Given the description of an element on the screen output the (x, y) to click on. 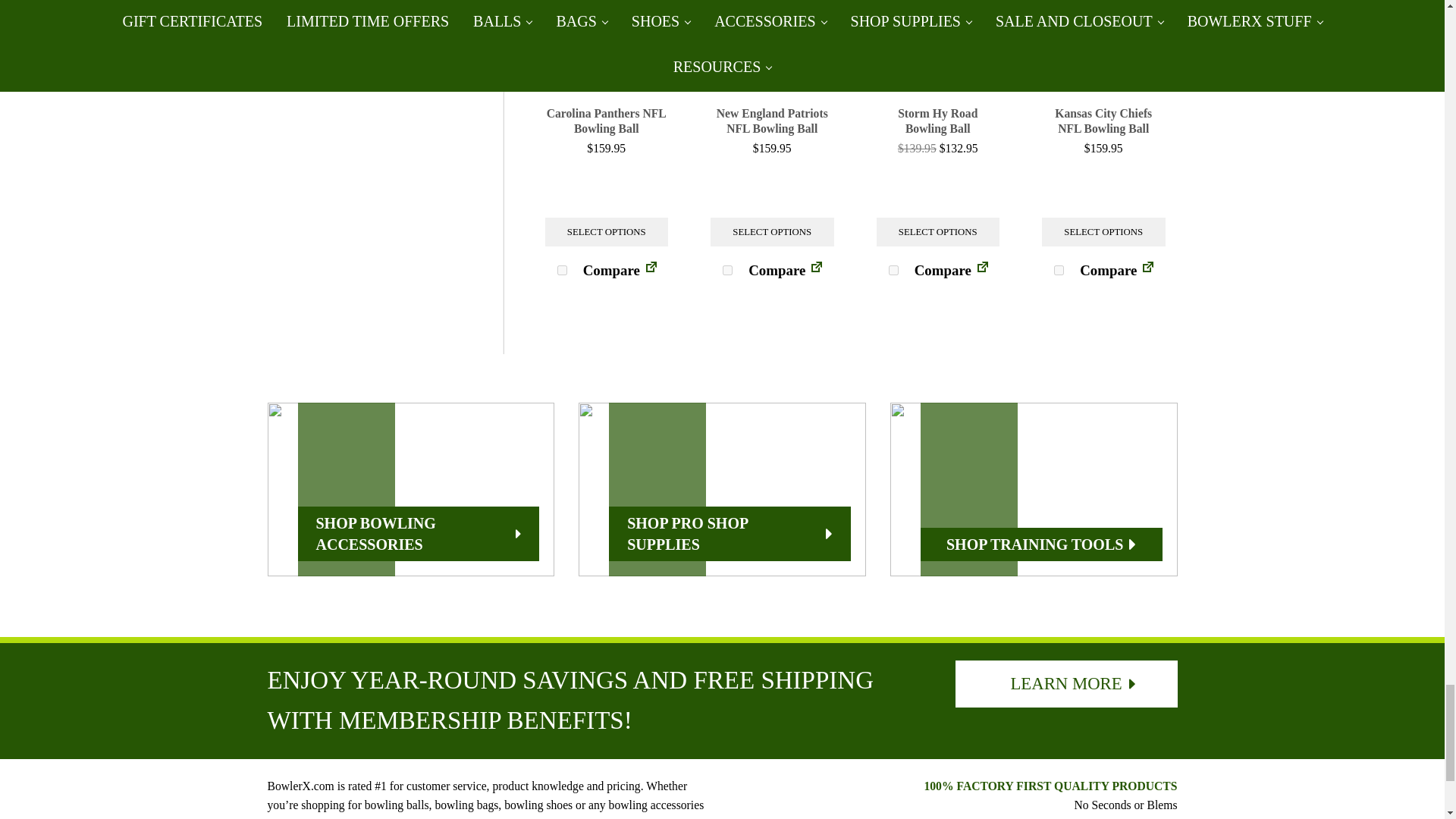
Compare Page (1148, 270)
Compare Page (650, 270)
on (562, 270)
Compare Page (816, 270)
on (727, 270)
on (893, 270)
on (1059, 270)
Compare Page (982, 270)
